Given the description of an element on the screen output the (x, y) to click on. 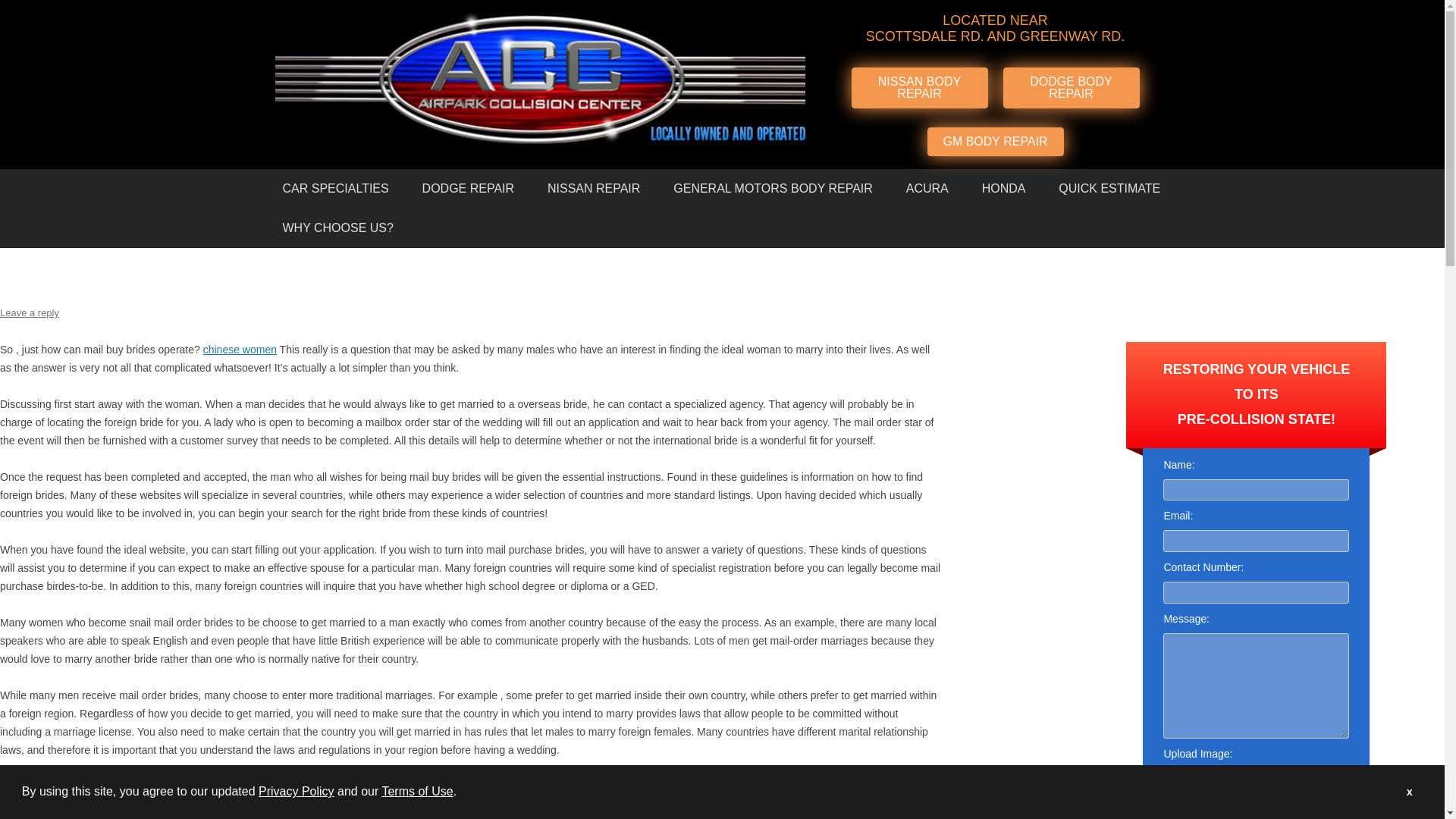
CAR SPECIALTIES (334, 188)
GENERAL MOTORS BODY REPAIR (773, 188)
Leave a reply (29, 312)
HONDA (1003, 188)
I consent this site to collect my Information. (1171, 803)
QUICK ESTIMATE (1108, 188)
NISSAN REPAIR (593, 188)
chinese women (239, 349)
SPECIALS (349, 268)
ACURA (927, 188)
DODGE BODY REPAIR (1070, 87)
NISSAN BODY REPAIR (918, 87)
Terms of Use (416, 790)
WHY CHOOSE US? (336, 228)
